Given the description of an element on the screen output the (x, y) to click on. 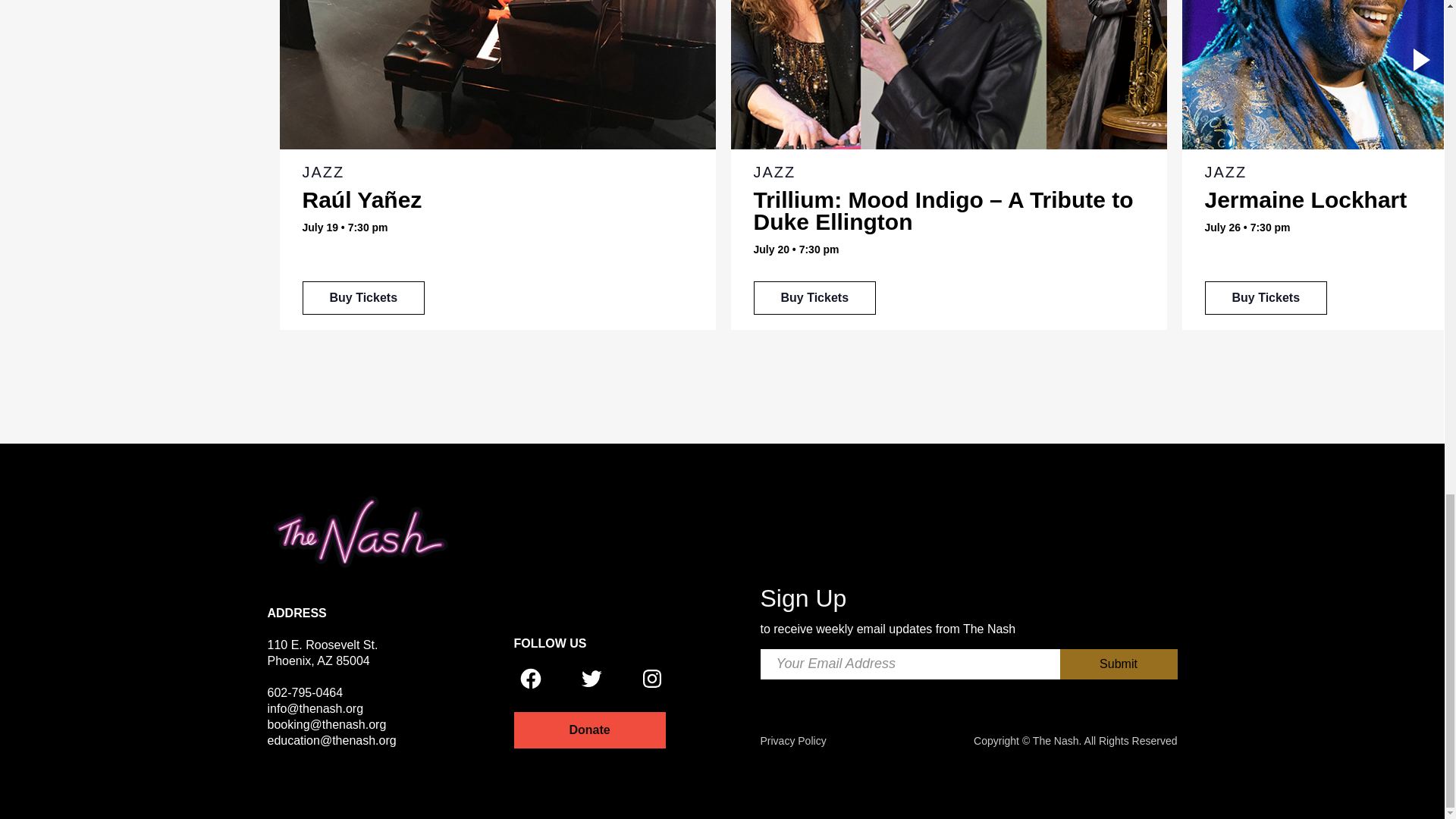
Jermaine Lockhart (1305, 199)
Submit (1118, 664)
Jermaine Lockhart (1265, 297)
